Given the description of an element on the screen output the (x, y) to click on. 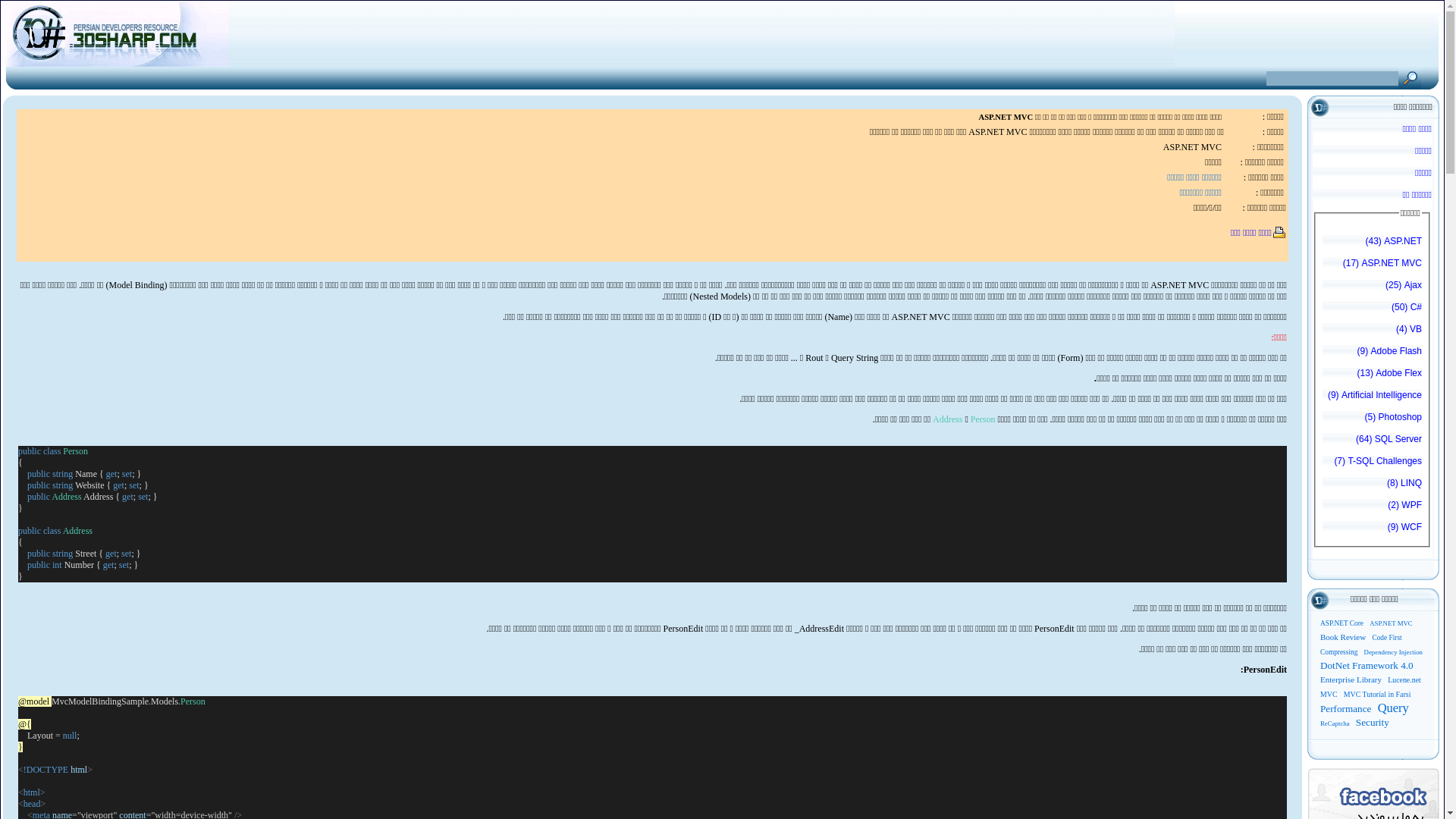
T-SQL Challenges (7) Element type: text (1371, 464)
MVC Element type: text (1328, 694)
ASP.NET (43) Element type: text (1371, 244)
WPF (2) Element type: text (1371, 508)
ASP.NET MVC (17) Element type: text (1371, 266)
Performance Element type: text (1345, 708)
Enterprise Library Element type: text (1350, 679)
C# (50) Element type: text (1371, 310)
Compressing Element type: text (1338, 651)
ASP.NET MVC Element type: text (1390, 623)
ASP.NET Core Element type: text (1341, 623)
Adobe Flash (9) Element type: text (1371, 354)
ReCaptcha Element type: text (1334, 723)
Photoshop (5) Element type: text (1371, 420)
Code First Element type: text (1386, 637)
LINQ (8) Element type: text (1371, 486)
Artificial Intelligence (9) Element type: text (1371, 398)
SQL Server (64) Element type: text (1371, 442)
Query Element type: text (1392, 707)
WCF (9) Element type: text (1371, 530)
MVC Tutorial in Farsi Element type: text (1377, 694)
Book Review Element type: text (1342, 636)
Lucene.net Element type: text (1404, 679)
Dependency Injection Element type: text (1393, 651)
DotNet Framework 4.0 Element type: text (1366, 665)
Adobe Flex (13) Element type: text (1371, 376)
Ajax (25) Element type: text (1371, 288)
Security Element type: text (1372, 722)
VB (4) Element type: text (1371, 332)
